Given the description of an element on the screen output the (x, y) to click on. 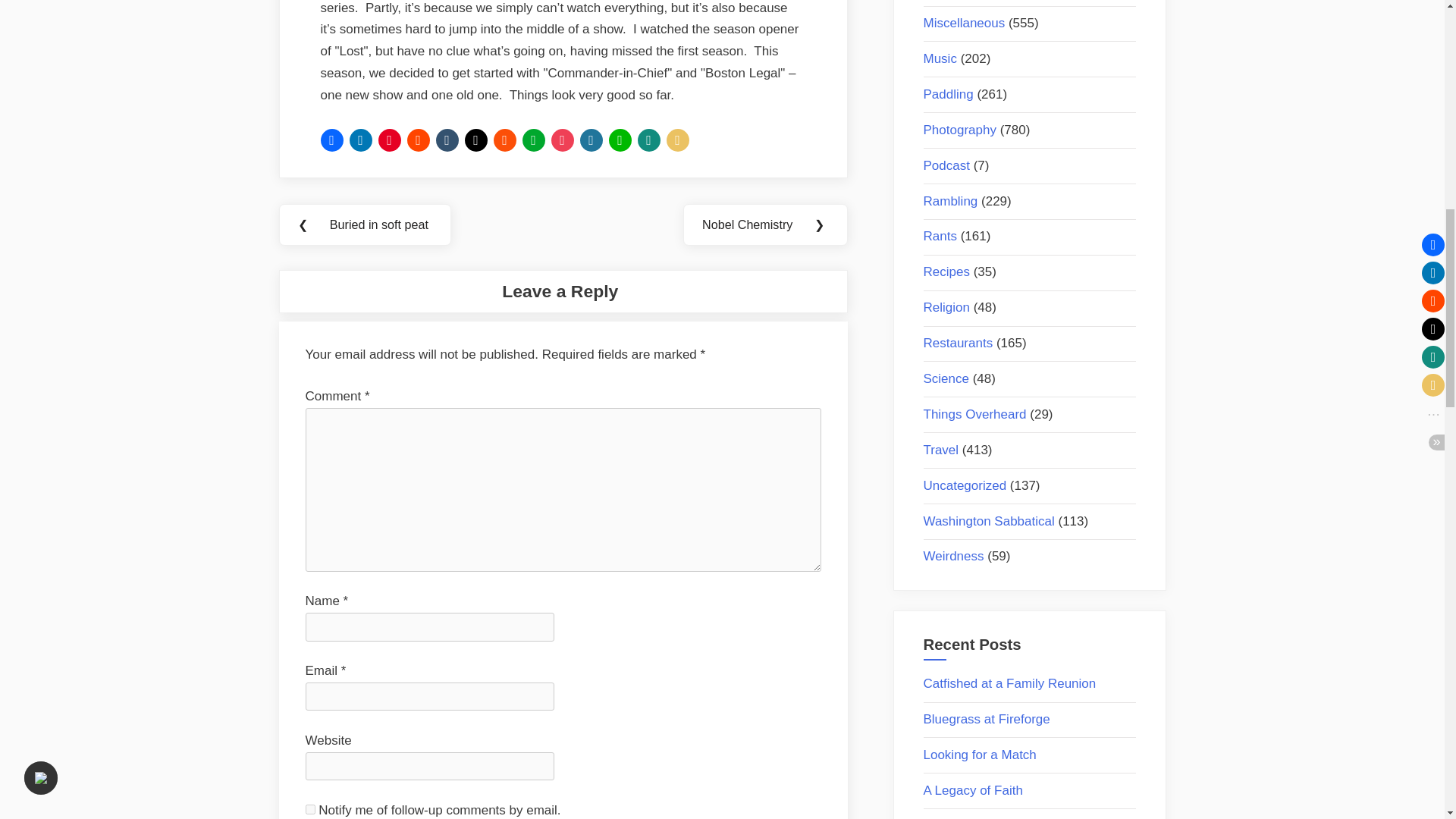
Podcast (946, 165)
Rants (939, 236)
Photography (959, 129)
Rambling (950, 201)
Music (939, 58)
subscribe (309, 809)
Miscellaneous (964, 22)
Paddling (948, 93)
